Given the description of an element on the screen output the (x, y) to click on. 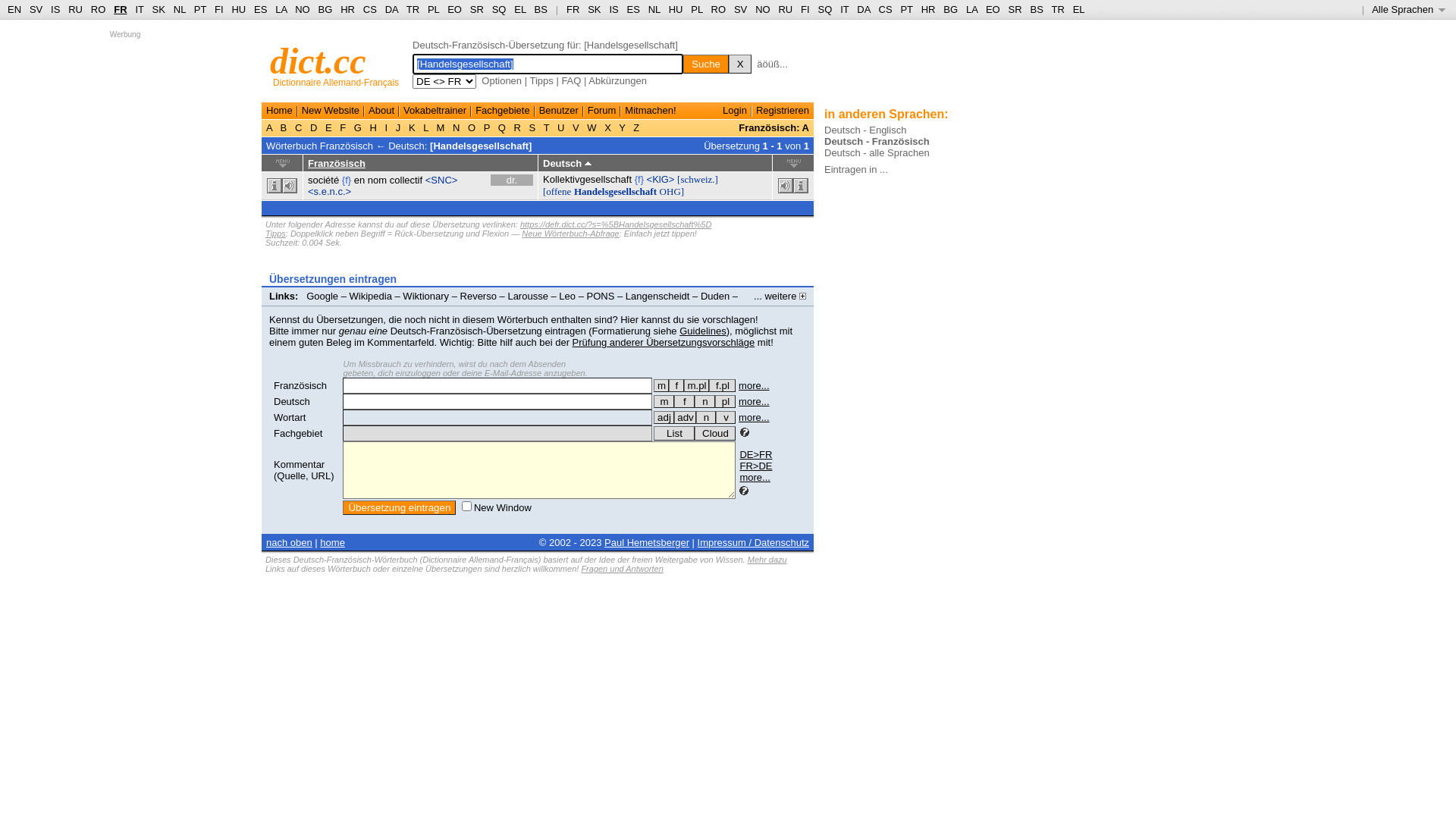
Optionen Element type: text (501, 80)
L Element type: text (425, 127)
SR Element type: text (1015, 9)
V Element type: text (575, 127)
LA Element type: text (280, 9)
die - Mehrzahl (Plural) Element type: hover (725, 401)
en Element type: text (359, 179)
C Element type: text (297, 127)
CS Element type: text (369, 9)
RU Element type: text (785, 9)
BG Element type: text (325, 9)
NO Element type: text (302, 9)
[offene Element type: text (556, 191)
<KlG> Element type: text (660, 179)
Q Element type: text (501, 127)
Vokabeltrainer Element type: text (434, 110)
N Element type: text (455, 127)
EL Element type: text (1079, 9)
HR Element type: text (347, 9)
BG Element type: text (950, 9)
adv Element type: text (685, 417)
PT Element type: text (906, 9)
[Handelsgesellschaft] Element type: text (480, 144)
SV Element type: text (740, 9)
IS Element type: text (613, 9)
U Element type: text (560, 127)
SV Element type: text (35, 9)
Duden Element type: text (714, 295)
masculin Element type: hover (660, 385)
f.pl Element type: text (722, 385)
Tipps Element type: text (540, 80)
X Element type: text (608, 127)
IT Element type: text (138, 9)
BS Element type: text (540, 9)
O Element type: text (470, 127)
DWDS Element type: text (287, 307)
nom Element type: text (376, 179)
FR Element type: text (572, 9)
Y Element type: text (621, 127)
DA Element type: text (391, 9)
m.pl Element type: text (696, 385)
NL Element type: text (179, 9)
SQ Element type: text (824, 9)
f Element type: text (684, 401)
Eintragen in ... Element type: text (856, 169)
adj Element type: text (663, 417)
Larousse Element type: text (527, 295)
S Element type: text (532, 127)
RO Element type: text (98, 9)
... weitere Element type: text (779, 295)
Mehr dazu Element type: text (767, 559)
Paul Hemetsberger Element type: text (646, 542)
R Element type: text (517, 127)
SK Element type: text (593, 9)
Google Element type: text (322, 295)
Mitmachen! Element type: text (649, 110)
masculin pluriel Element type: hover (696, 385)
home Element type: text (332, 542)
New Website Element type: text (330, 110)
X Element type: text (739, 63)
B Element type: text (283, 127)
Login Element type: text (734, 110)
Benutzer Element type: text (558, 110)
n Element type: text (705, 417)
P Element type: text (486, 127)
PT Element type: text (200, 9)
Deutsch Element type: text (291, 401)
H Element type: text (373, 127)
nach oben Element type: text (289, 542)
Guidelines Element type: text (702, 330)
Fachgebiete Element type: text (502, 110)
D Element type: text (313, 127)
SK Element type: text (158, 9)
PL Element type: text (433, 9)
Handelsgesellschaft Element type: text (615, 191)
<SNC> Element type: text (441, 179)
FR Element type: text (119, 9)
Suche Element type: text (705, 63)
RO Element type: text (718, 9)
https://defr.dict.cc/?s=%5BHandelsgesellschaft%5D Element type: text (615, 224)
n Element type: text (704, 401)
EN Element type: text (14, 9)
M Element type: text (440, 127)
RU Element type: text (75, 9)
more... Element type: text (753, 417)
FI Element type: text (804, 9)
[schweiz.] Element type: text (697, 179)
FI Element type: text (218, 9)
DA Element type: text (862, 9)
Forum Element type: text (601, 110)
Fragen und Antworten Element type: text (621, 568)
ES Element type: text (633, 9)
T Element type: text (546, 127)
BS Element type: text (1035, 9)
EL Element type: text (519, 9)
NO Element type: text (762, 9)
<s.e.n.c.> Element type: text (329, 191)
pl Element type: text (725, 401)
OHG] Element type: text (671, 191)
m Element type: text (660, 385)
NL Element type: text (654, 9)
HU Element type: text (675, 9)
ES Element type: text (260, 9)
TR Element type: text (412, 9)
Wikipedia Element type: text (370, 295)
SQ Element type: text (499, 9)
Kollektivgesellschaft Element type: text (586, 179)
Tipps Element type: text (275, 233)
Z Element type: text (636, 127)
IS Element type: text (54, 9)
PL Element type: text (696, 9)
TR Element type: text (1057, 9)
G Element type: text (357, 127)
DE>FR Element type: text (755, 454)
Deutsch - alle Sprachen Element type: text (876, 152)
About Element type: text (381, 110)
J Element type: text (397, 127)
dict.cc Element type: text (317, 60)
f Element type: text (676, 385)
Registrieren Element type: text (782, 110)
Links anpassen Element type: text (347, 307)
E Element type: text (328, 127)
SR Element type: text (476, 9)
more... Element type: text (753, 385)
F Element type: text (342, 127)
dr. Element type: text (511, 179)
IT Element type: text (844, 9)
die - weiblich (Femininum) Element type: hover (684, 401)
EO Element type: text (454, 9)
more... Element type: text (754, 477)
Impressum / Datenschutz Element type: text (753, 542)
m Element type: text (663, 401)
more... Element type: text (753, 401)
Cloud Element type: text (714, 433)
FR>DE Element type: text (755, 465)
PONS Element type: text (600, 295)
Leo Element type: text (566, 295)
Home Element type: text (279, 110)
FAQ Element type: text (570, 80)
CS Element type: text (884, 9)
Deutsch - Englisch Element type: text (865, 129)
v Element type: text (725, 417)
Reverso Element type: text (478, 295)
Langenscheidt Element type: text (657, 295)
collectif Element type: text (405, 179)
List Element type: text (673, 433)
Wiktionary Element type: text (425, 295)
Alle Sprachen  Element type: text (1408, 9)
A Element type: text (270, 127)
I Element type: text (386, 127)
K Element type: text (411, 127)
LA Element type: text (971, 9)
HR Element type: text (928, 9)
HU Element type: text (238, 9)
EO Element type: text (992, 9)
W Element type: text (591, 127)
